Given the description of an element on the screen output the (x, y) to click on. 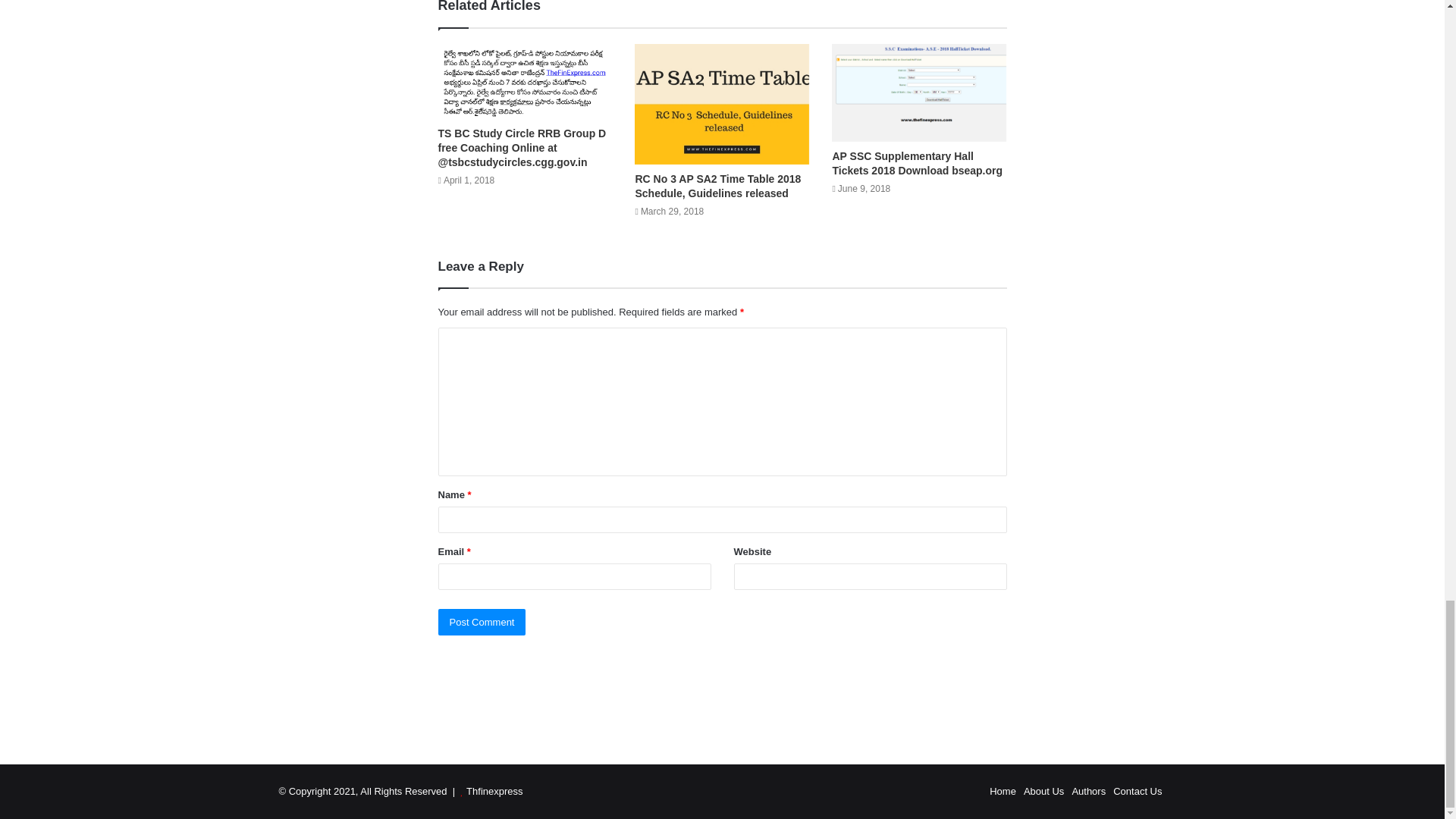
RC No 3 AP SA2 Time Table 2018 Schedule, Guidelines released (717, 185)
Post Comment (481, 622)
